Given the description of an element on the screen output the (x, y) to click on. 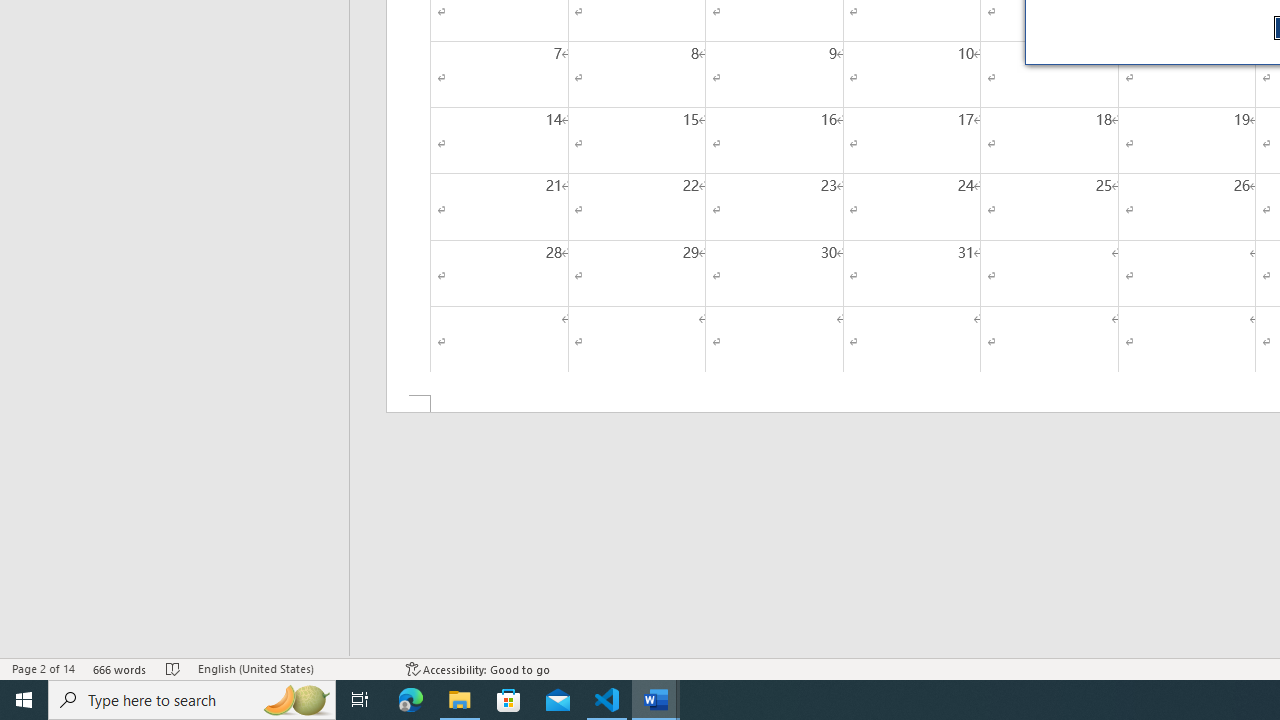
Spelling and Grammar Check No Errors (173, 668)
